Given the description of an element on the screen output the (x, y) to click on. 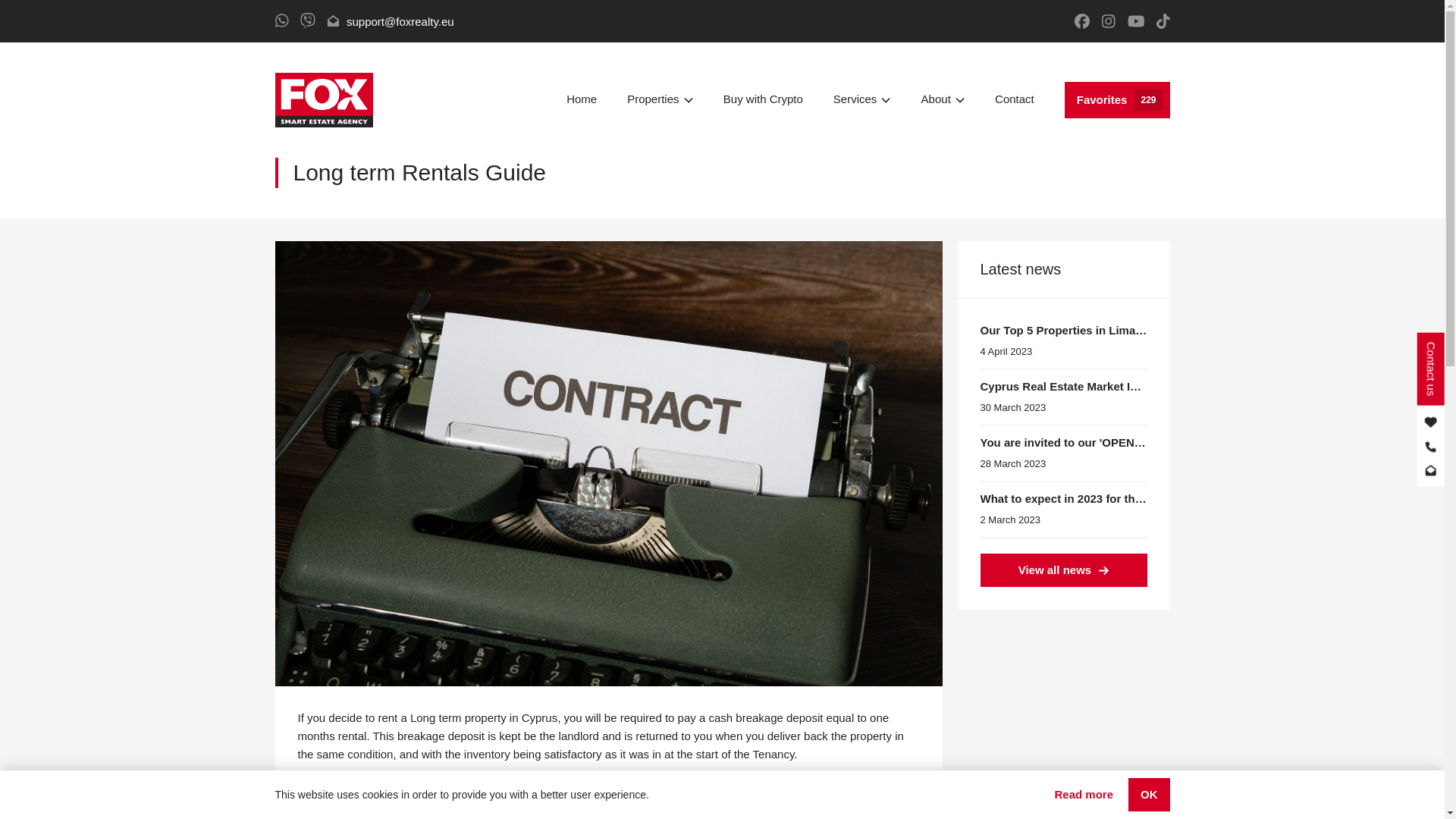
Buy with Crypto (1117, 99)
Home (763, 99)
About (581, 99)
View all news (942, 99)
Properties (1063, 570)
Services (660, 99)
Contact (861, 99)
